Given the description of an element on the screen output the (x, y) to click on. 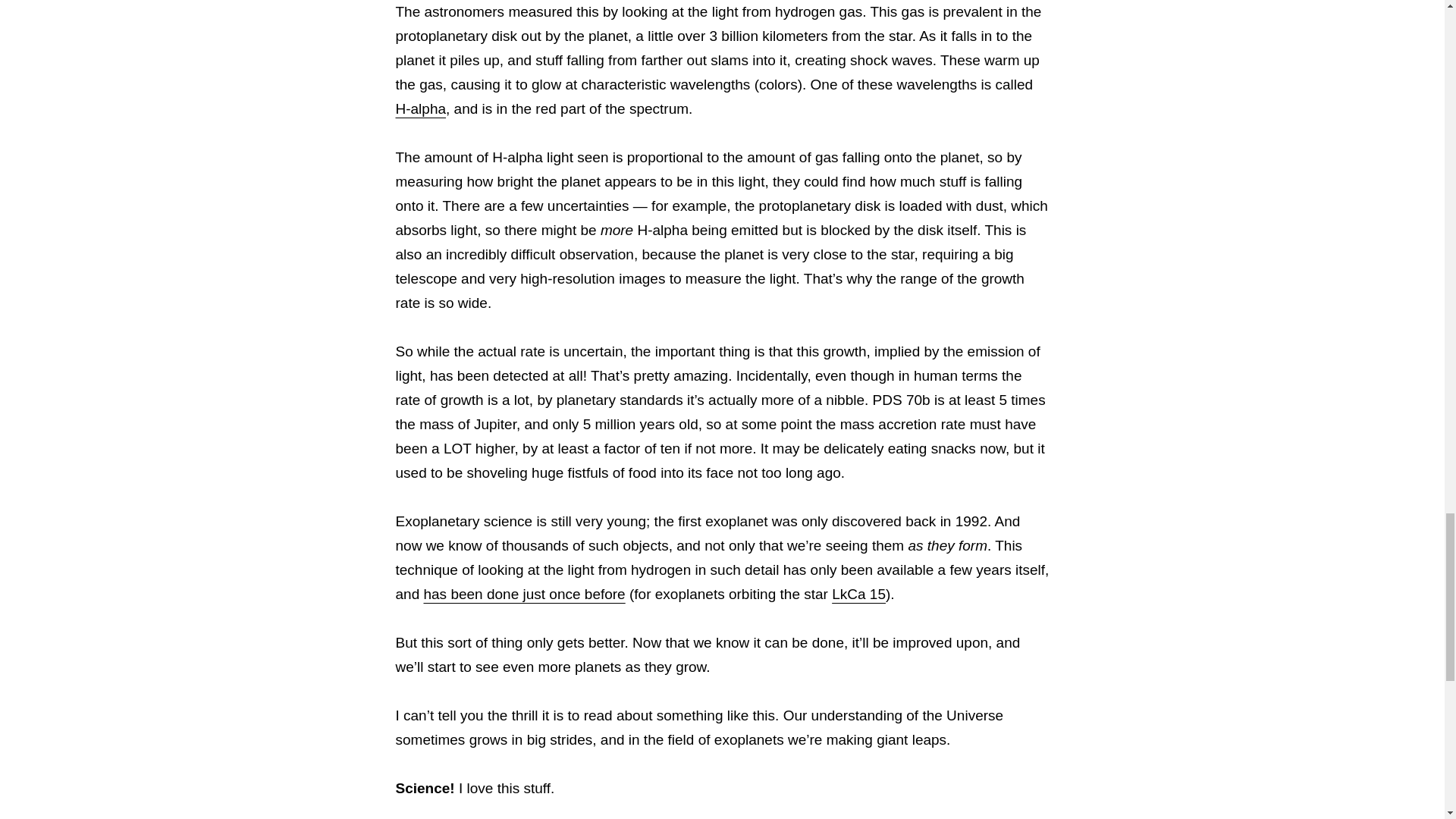
H-alpha (421, 108)
LkCa 15 (858, 593)
has been done just once before (523, 593)
